Given the description of an element on the screen output the (x, y) to click on. 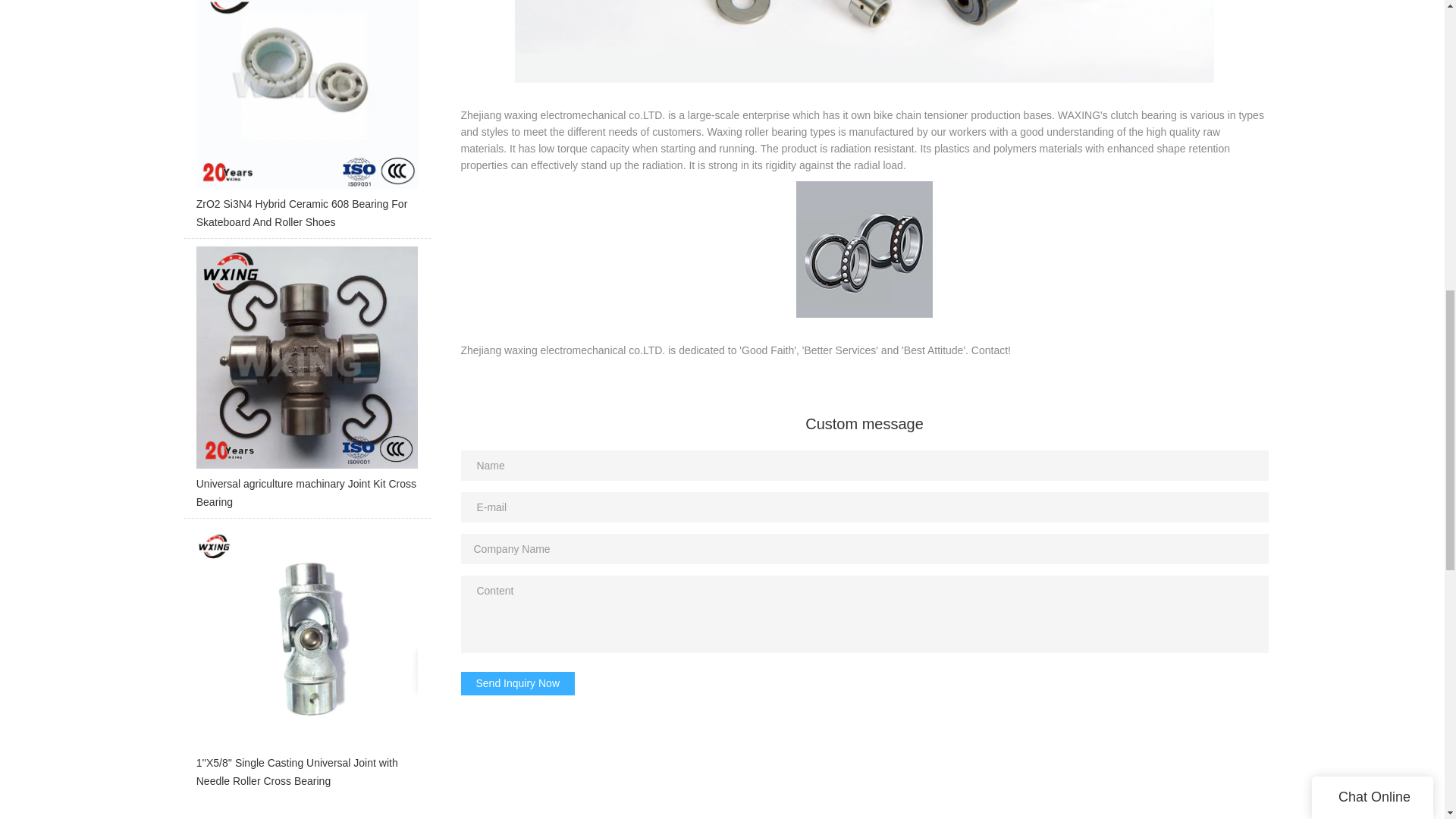
Send Inquiry Now (518, 683)
Universal agriculture machinary Joint Kit Cross Bearing (306, 381)
